Given the description of an element on the screen output the (x, y) to click on. 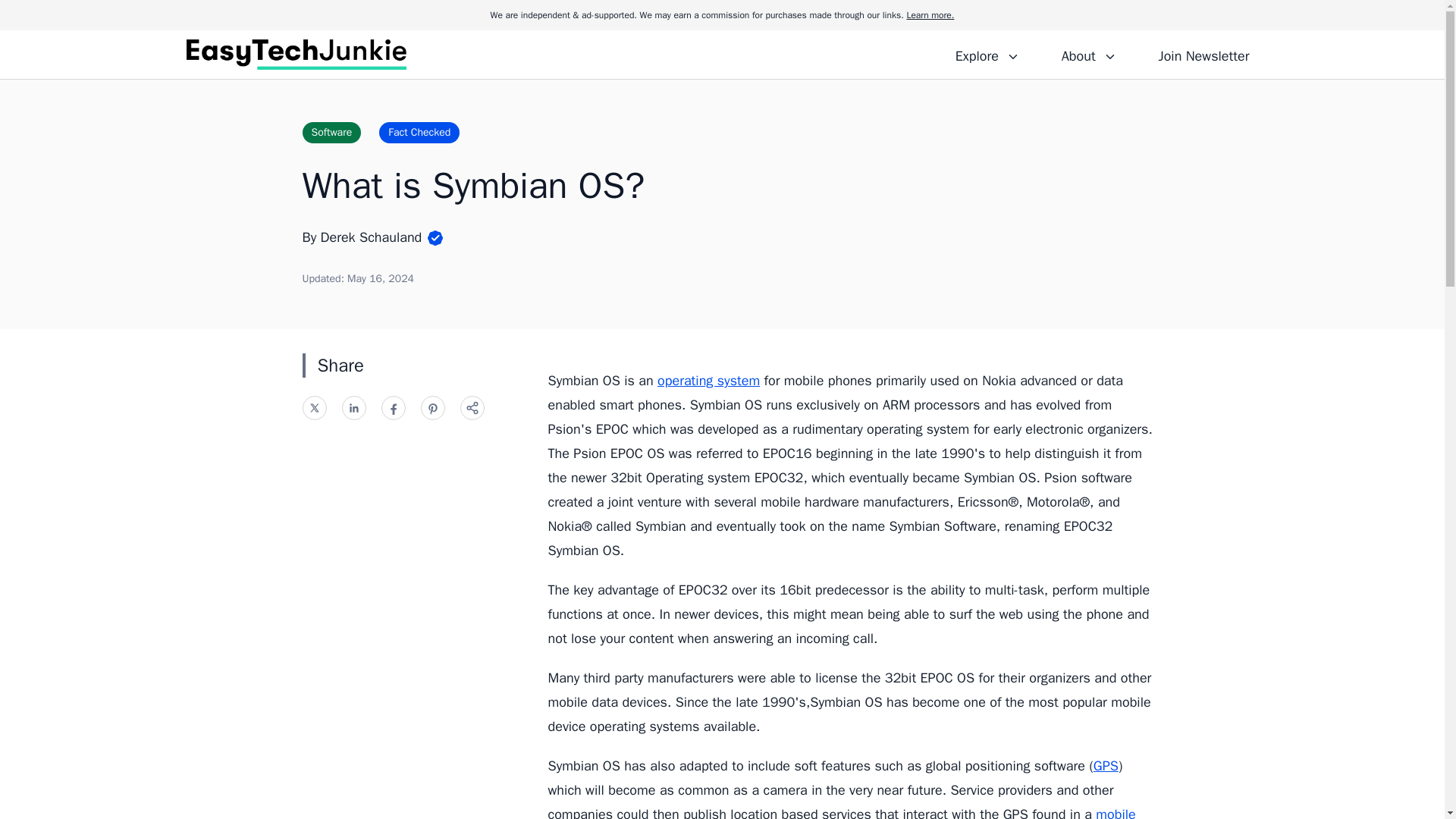
Explore (986, 54)
Learn more. (929, 15)
GPS (1105, 765)
Join Newsletter (1202, 54)
Fact Checked (419, 132)
Software (331, 132)
About (1088, 54)
mobile phone (841, 812)
operating system (709, 380)
